Given the description of an element on the screen output the (x, y) to click on. 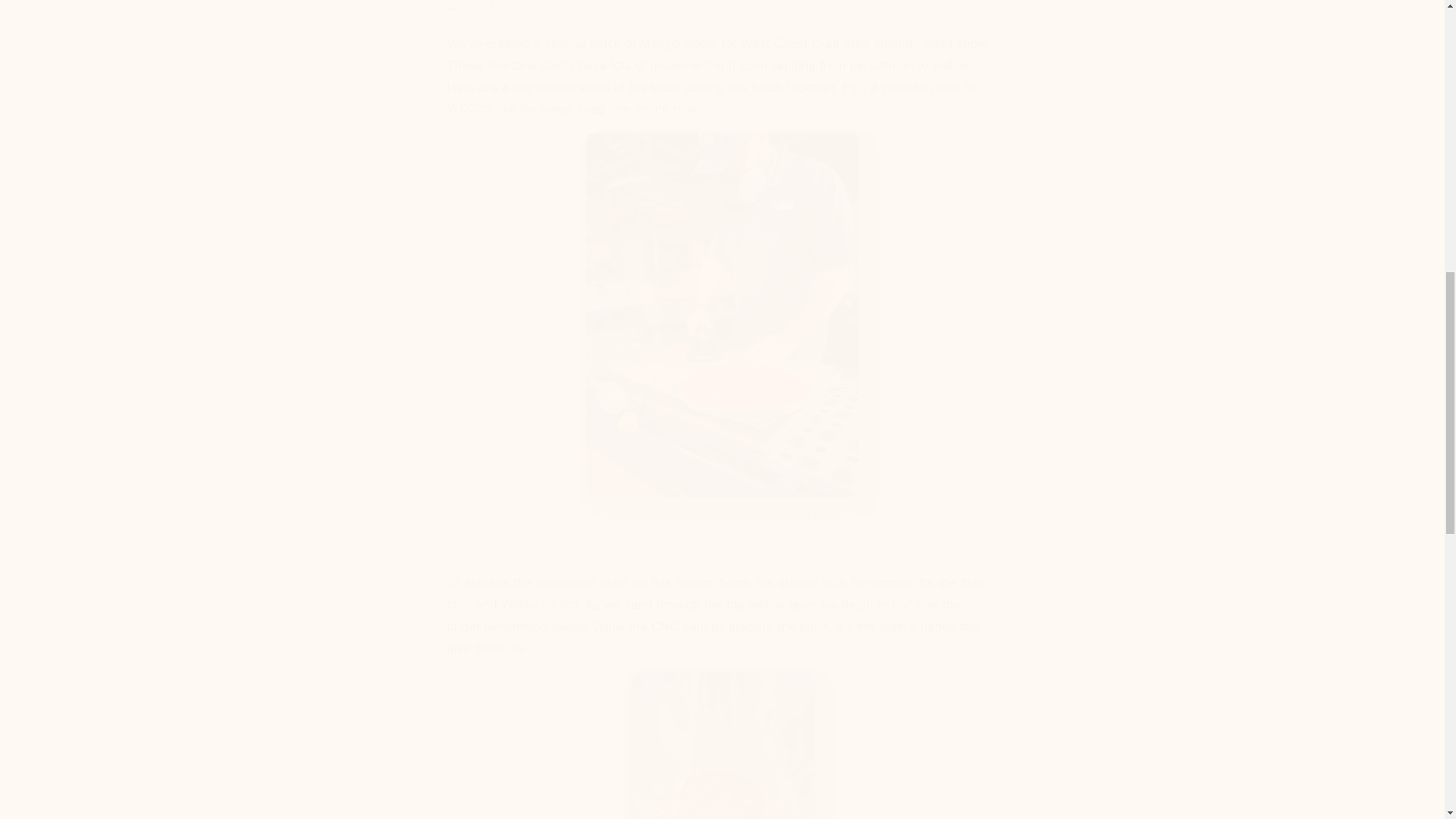
Share (721, 11)
